Given the description of an element on the screen output the (x, y) to click on. 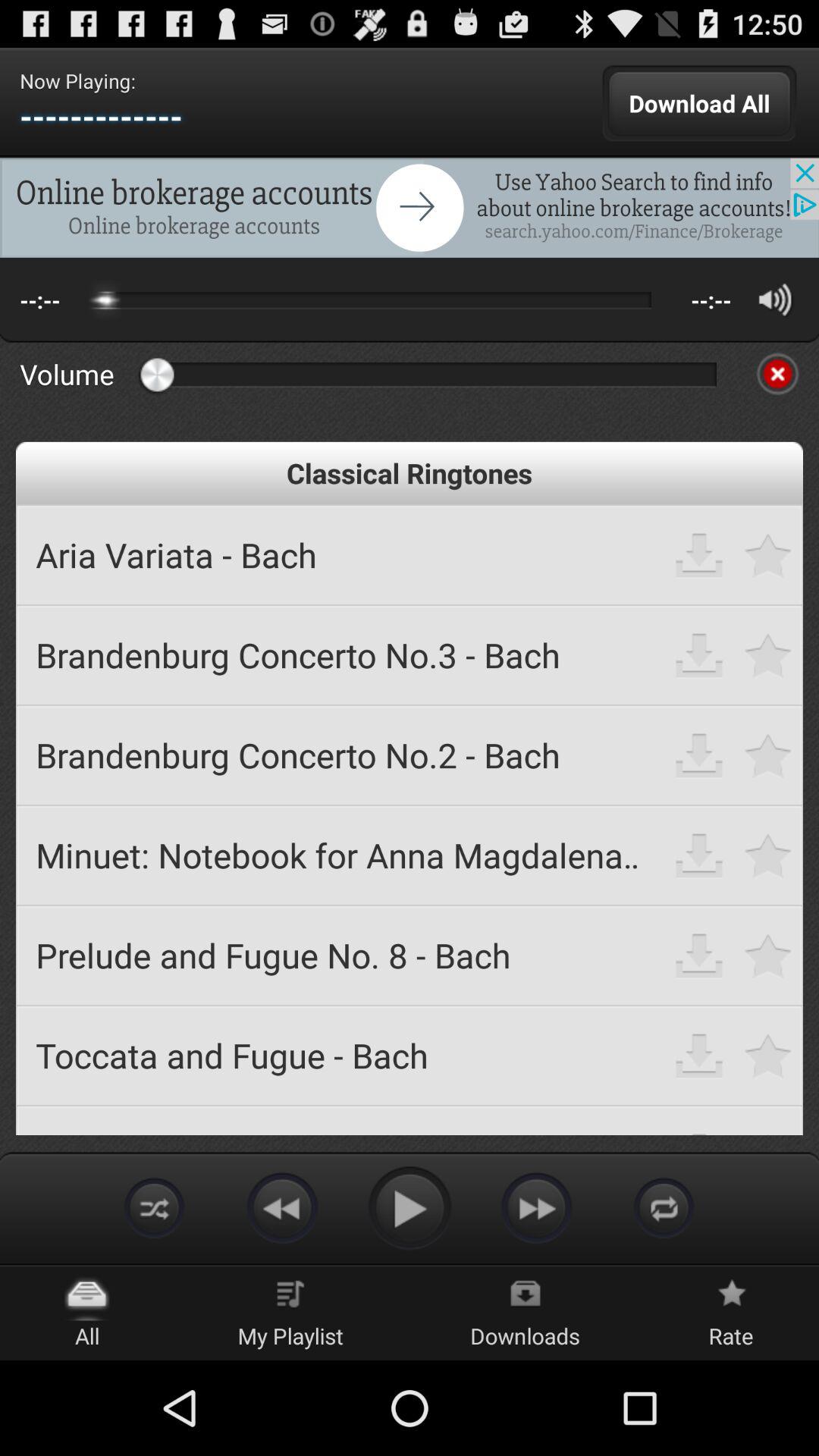
download ringtone (699, 554)
